Given the description of an element on the screen output the (x, y) to click on. 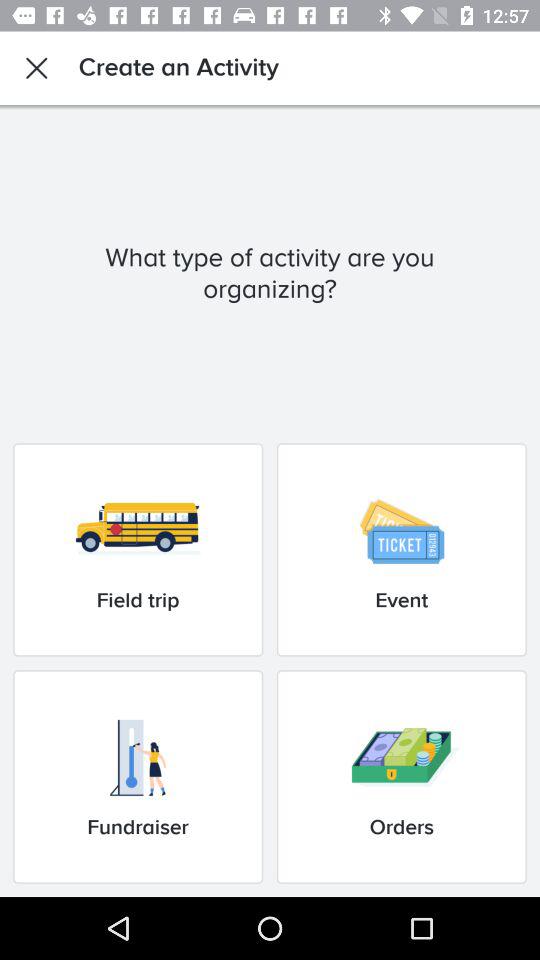
select icon below what type of item (138, 549)
